Given the description of an element on the screen output the (x, y) to click on. 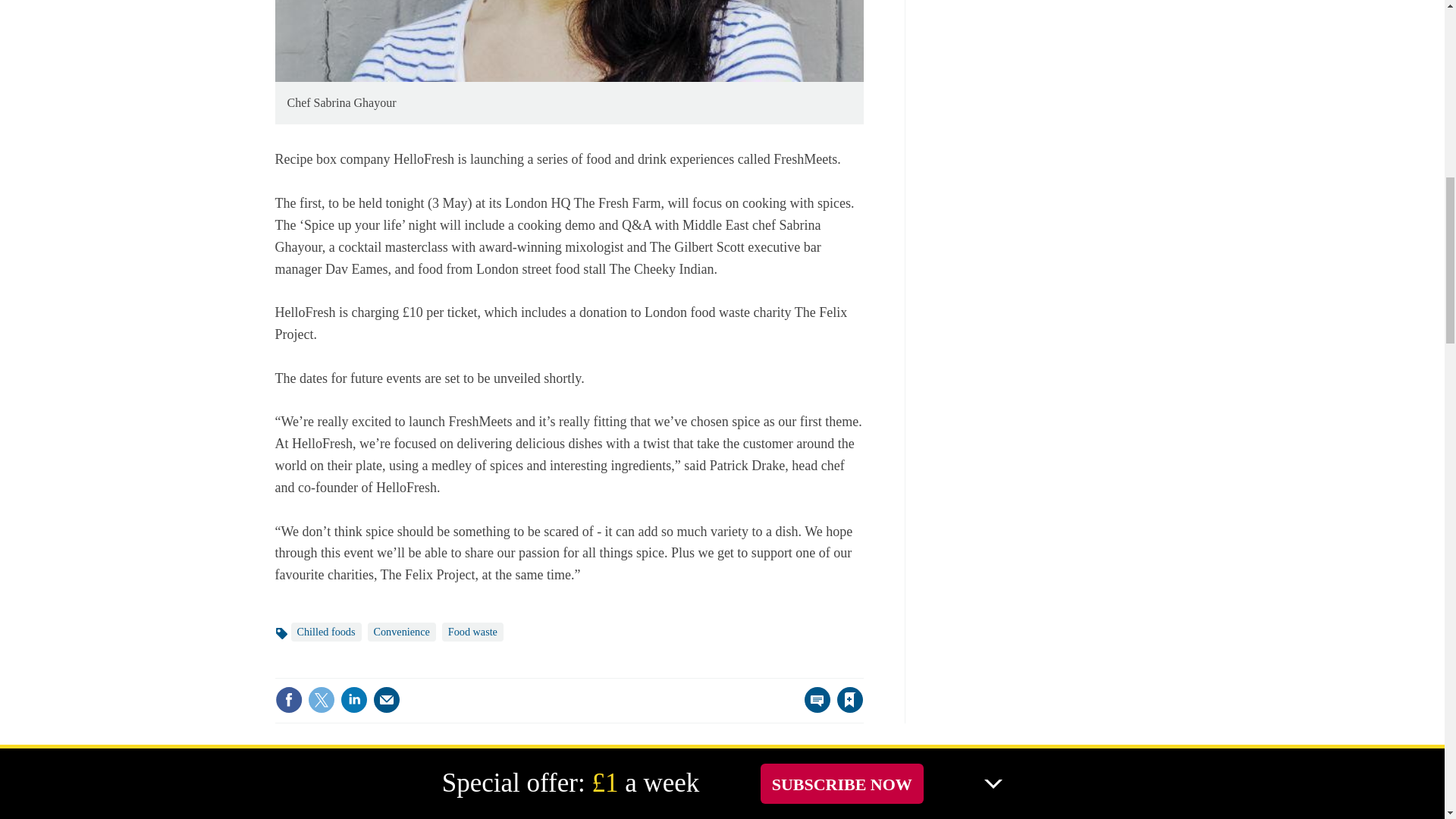
Share this on Twitter (320, 699)
Share this on Facebook (288, 699)
No comments (812, 708)
Share this on Linked in (352, 699)
Email this article (386, 699)
